Given the description of an element on the screen output the (x, y) to click on. 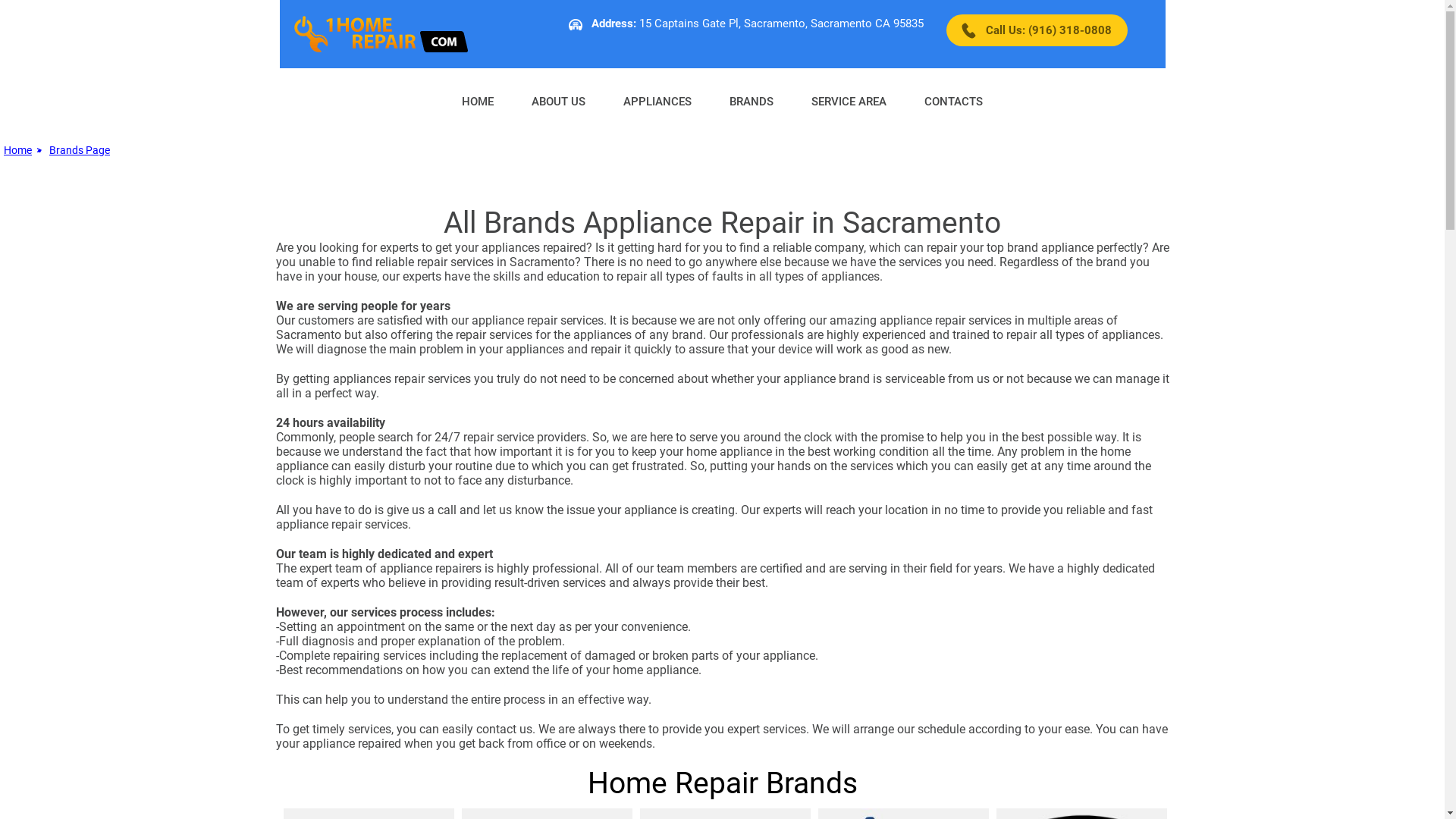
Home Element type: text (17, 150)
Brands Page Element type: text (79, 150)
SERVICE AREA Element type: text (848, 100)
ABOUT US Element type: text (558, 100)
HOME Element type: text (477, 100)
BRANDS Element type: text (751, 100)
CONTACTS Element type: text (953, 100)
Call Us: (916) 318-0808 Element type: text (1036, 30)
APPLIANCES Element type: text (657, 100)
